Given the description of an element on the screen output the (x, y) to click on. 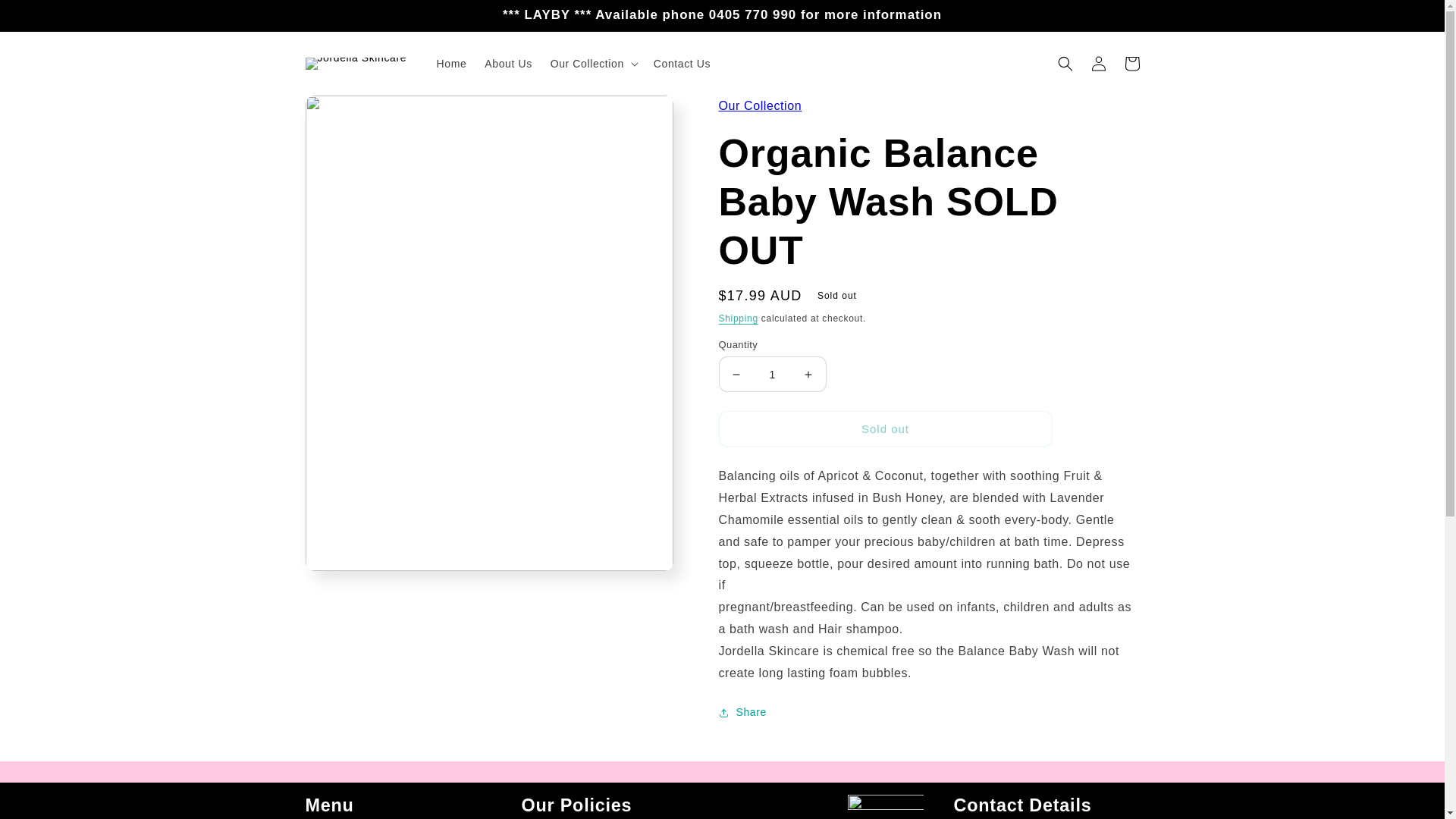
Skip to content (45, 17)
Home (452, 63)
Contact Us (682, 63)
1 (773, 374)
Our Collection (760, 105)
Our Collection (760, 105)
Skip to product information (350, 112)
Log in (1098, 63)
About Us (508, 63)
Shipping (738, 317)
